Given the description of an element on the screen output the (x, y) to click on. 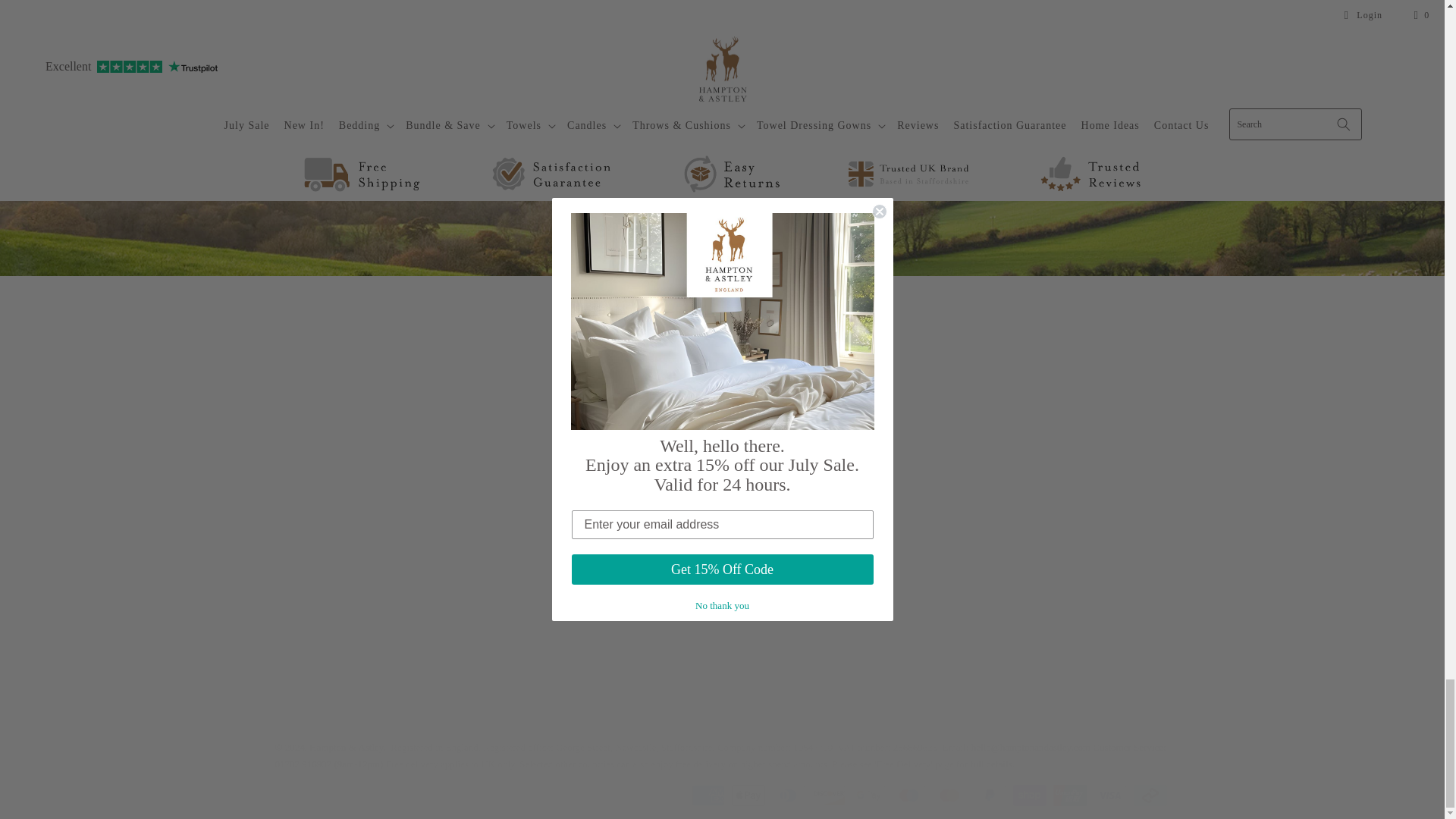
Offers and Launches (721, 154)
Sign Up (722, 229)
